Given the description of an element on the screen output the (x, y) to click on. 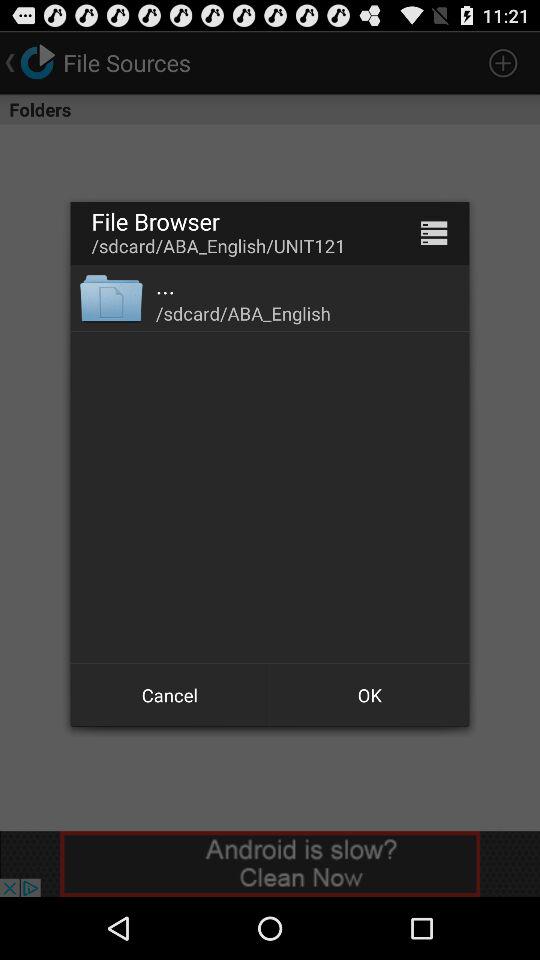
press icon below the /sdcard/aba_english/unit121 (110, 297)
